Given the description of an element on the screen output the (x, y) to click on. 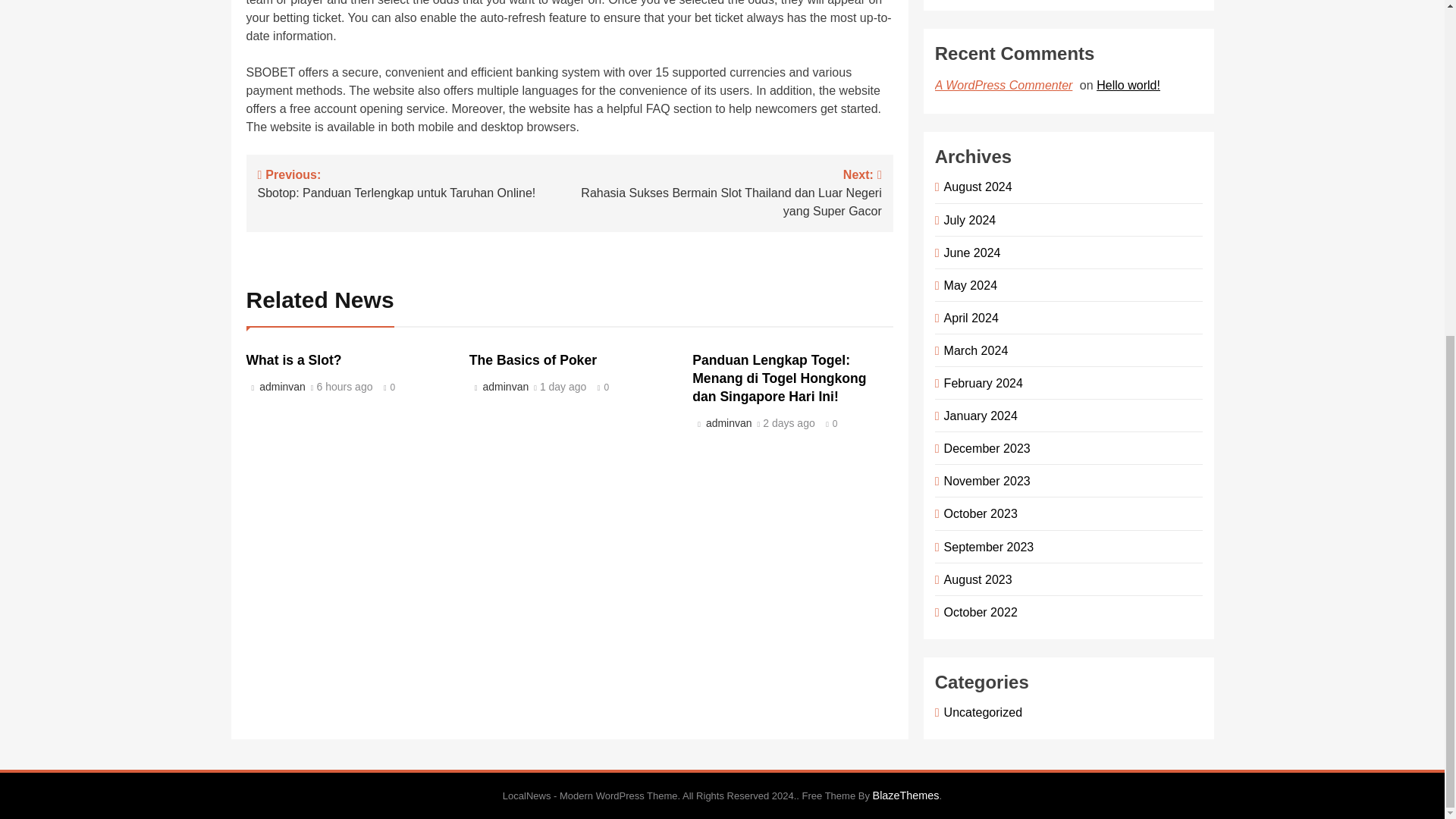
The Basics of Poker (532, 359)
July 2024 (967, 219)
Hello world! (1129, 84)
August 2024 (975, 186)
6 hours ago (344, 387)
A WordPress Commenter (1005, 84)
1 day ago (563, 387)
What is a Slot? (293, 359)
June 2024 (969, 252)
adminvan (726, 422)
adminvan (279, 386)
2 days ago (788, 423)
adminvan (503, 386)
